Given the description of an element on the screen output the (x, y) to click on. 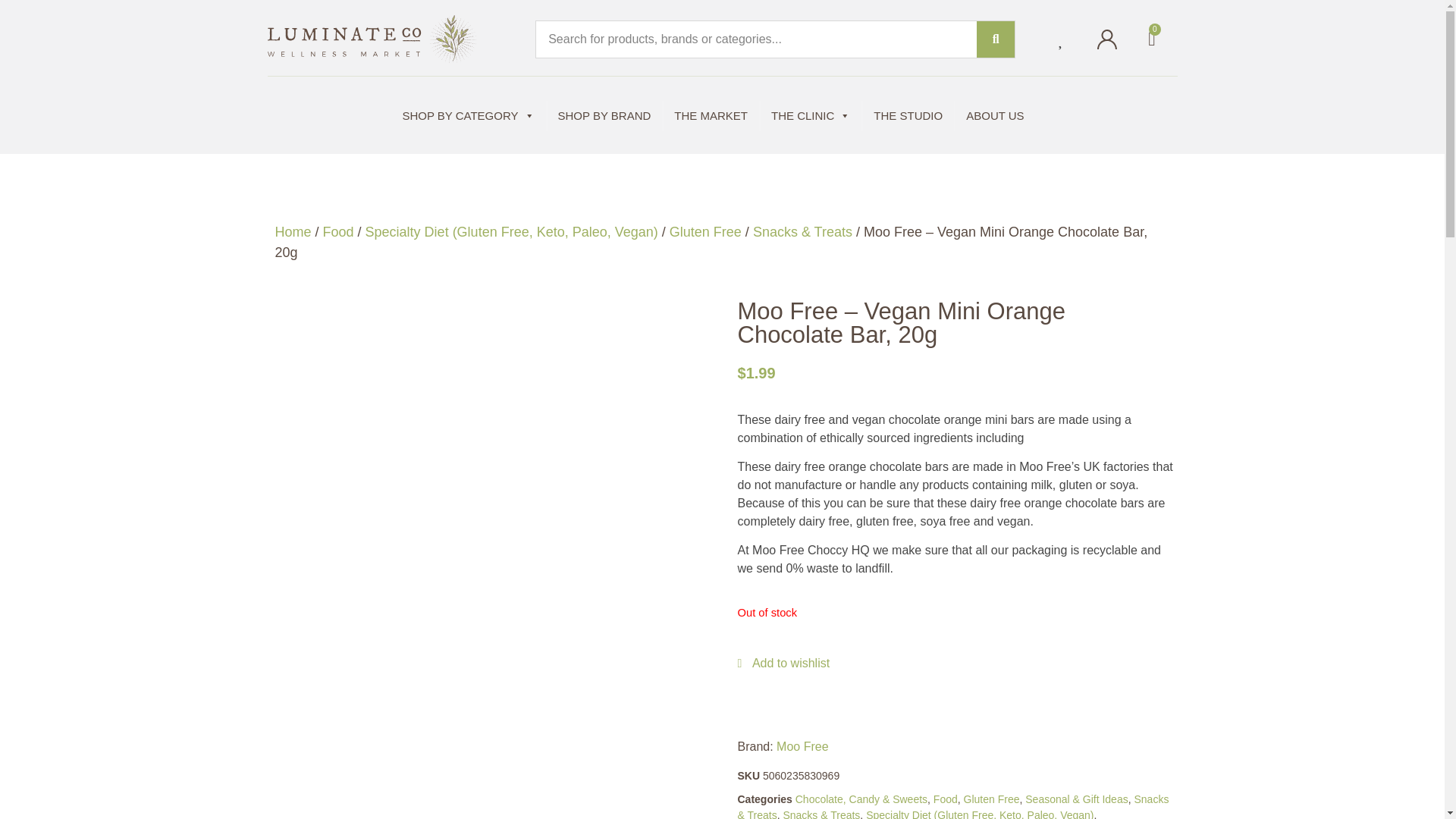
0 (1151, 38)
